Given the description of an element on the screen output the (x, y) to click on. 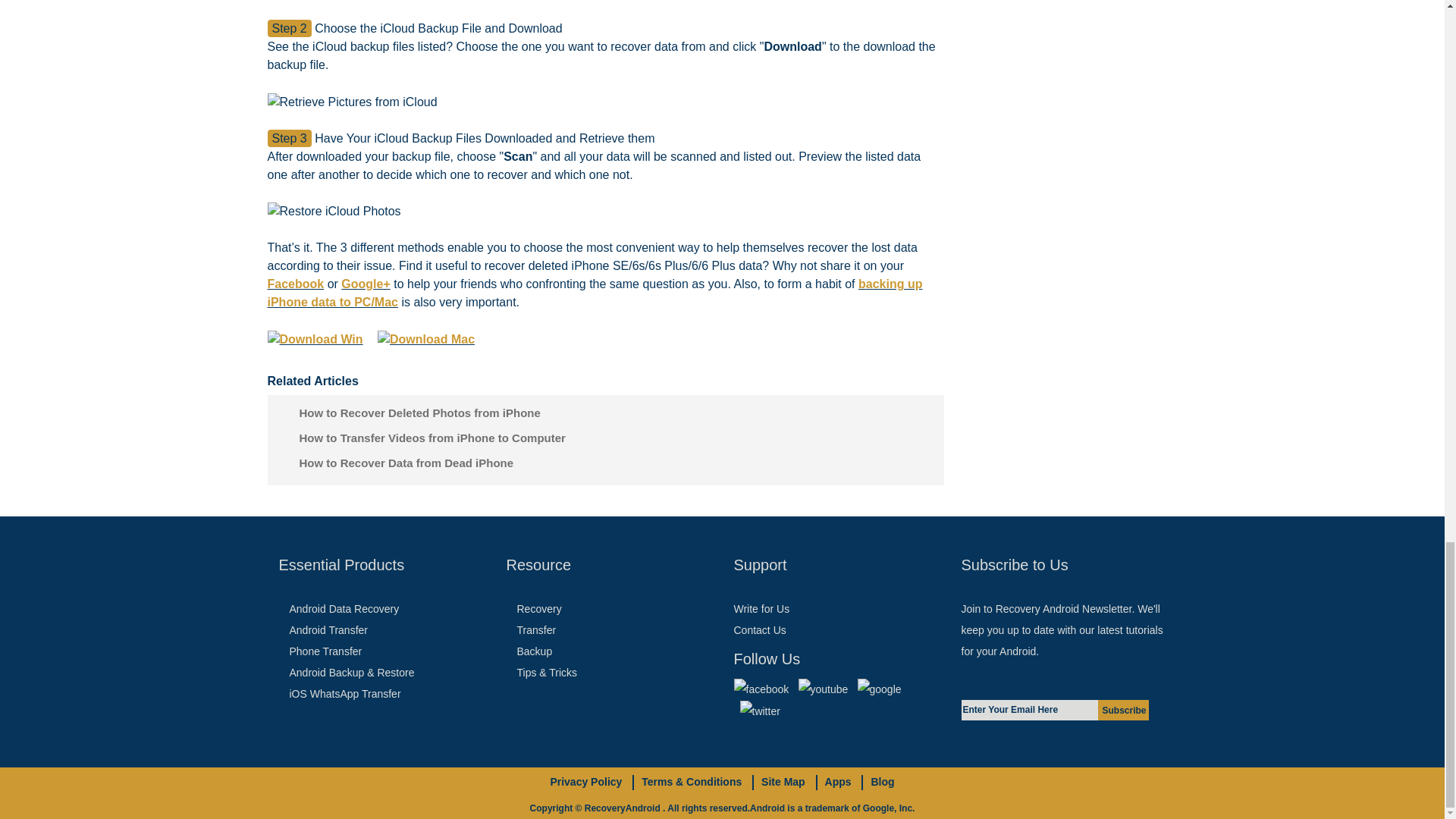
Retrieve Pictures from iCloud (351, 102)
Subscribe (1122, 710)
Facebook (294, 283)
Restore iCloud Photos (333, 211)
